Given the description of an element on the screen output the (x, y) to click on. 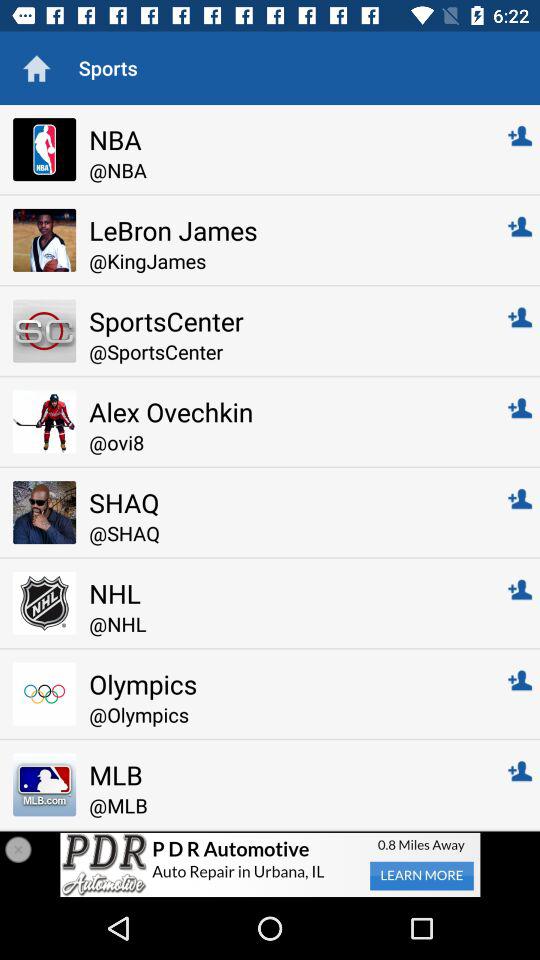
click the icon below the lebron james (284, 260)
